Given the description of an element on the screen output the (x, y) to click on. 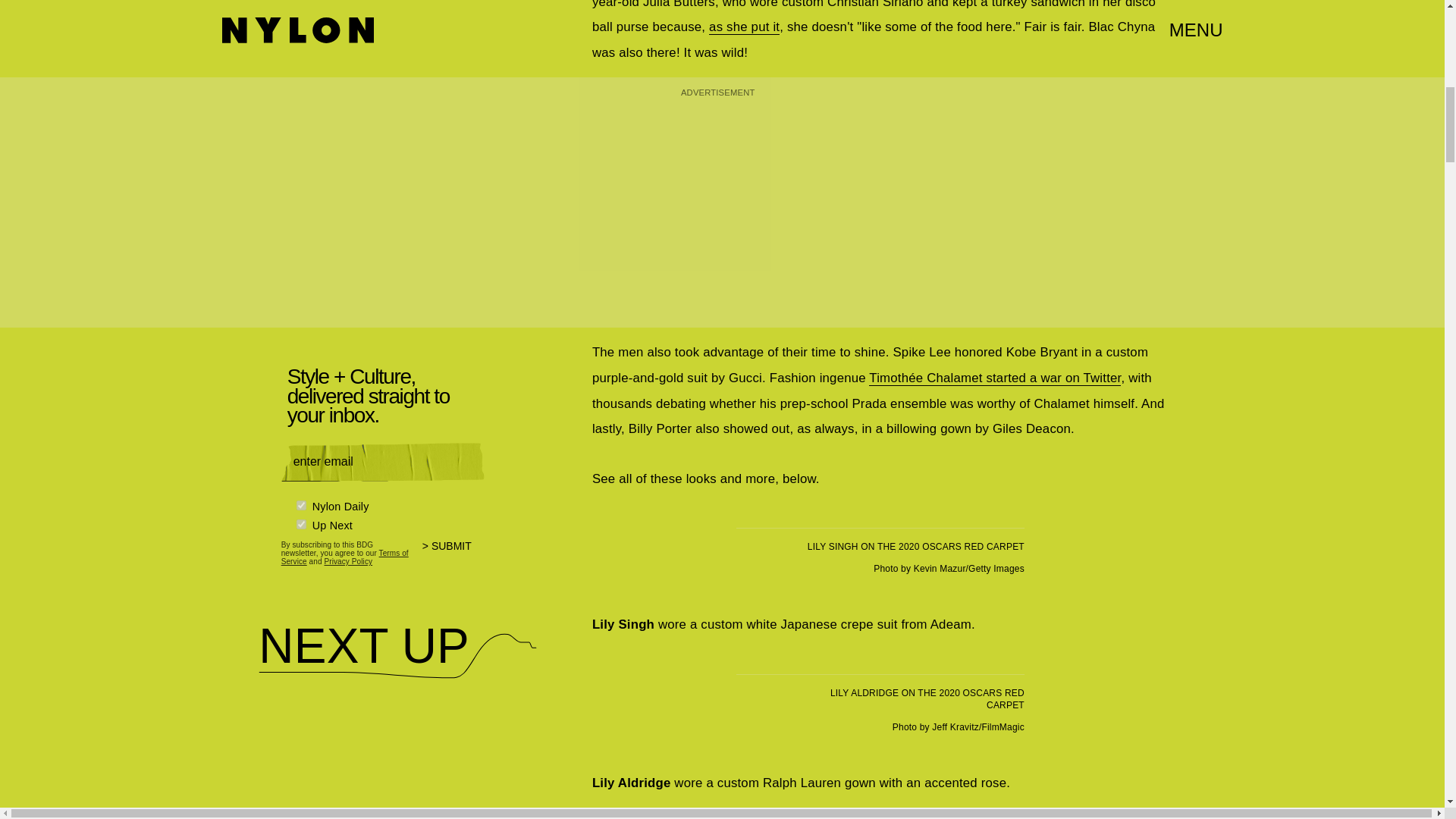
SUBMIT (453, 555)
as she put it (743, 27)
Terms of Service (345, 556)
Privacy Policy (347, 561)
